Given the description of an element on the screen output the (x, y) to click on. 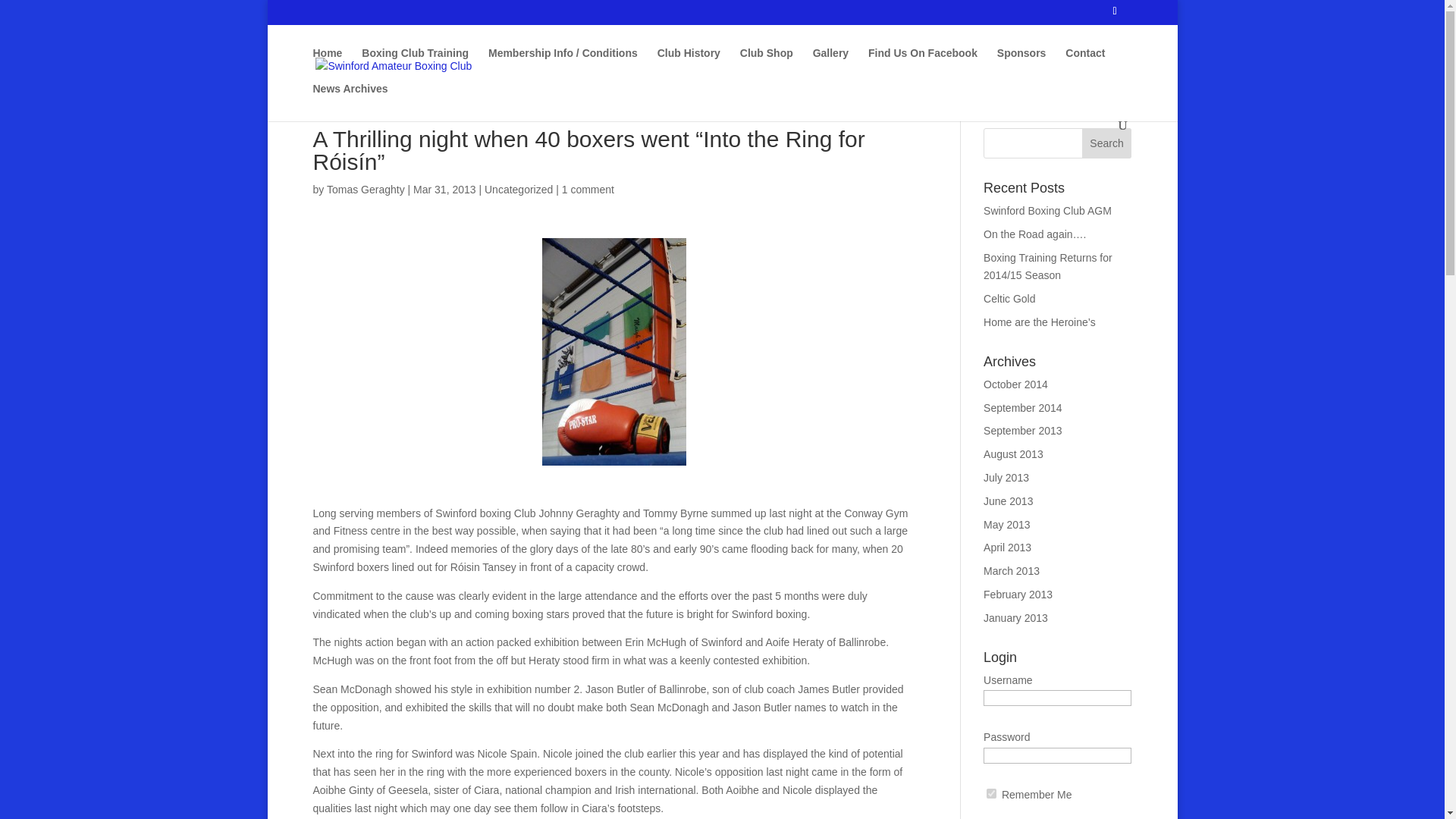
Sponsors (1021, 65)
Uncategorized (518, 189)
1 comment (588, 189)
Search (1106, 142)
Boxing Club Training (414, 65)
August 2013 (1013, 453)
forever (991, 793)
September 2014 (1023, 408)
Contact (1085, 65)
September 2013 (1023, 430)
